Given the description of an element on the screen output the (x, y) to click on. 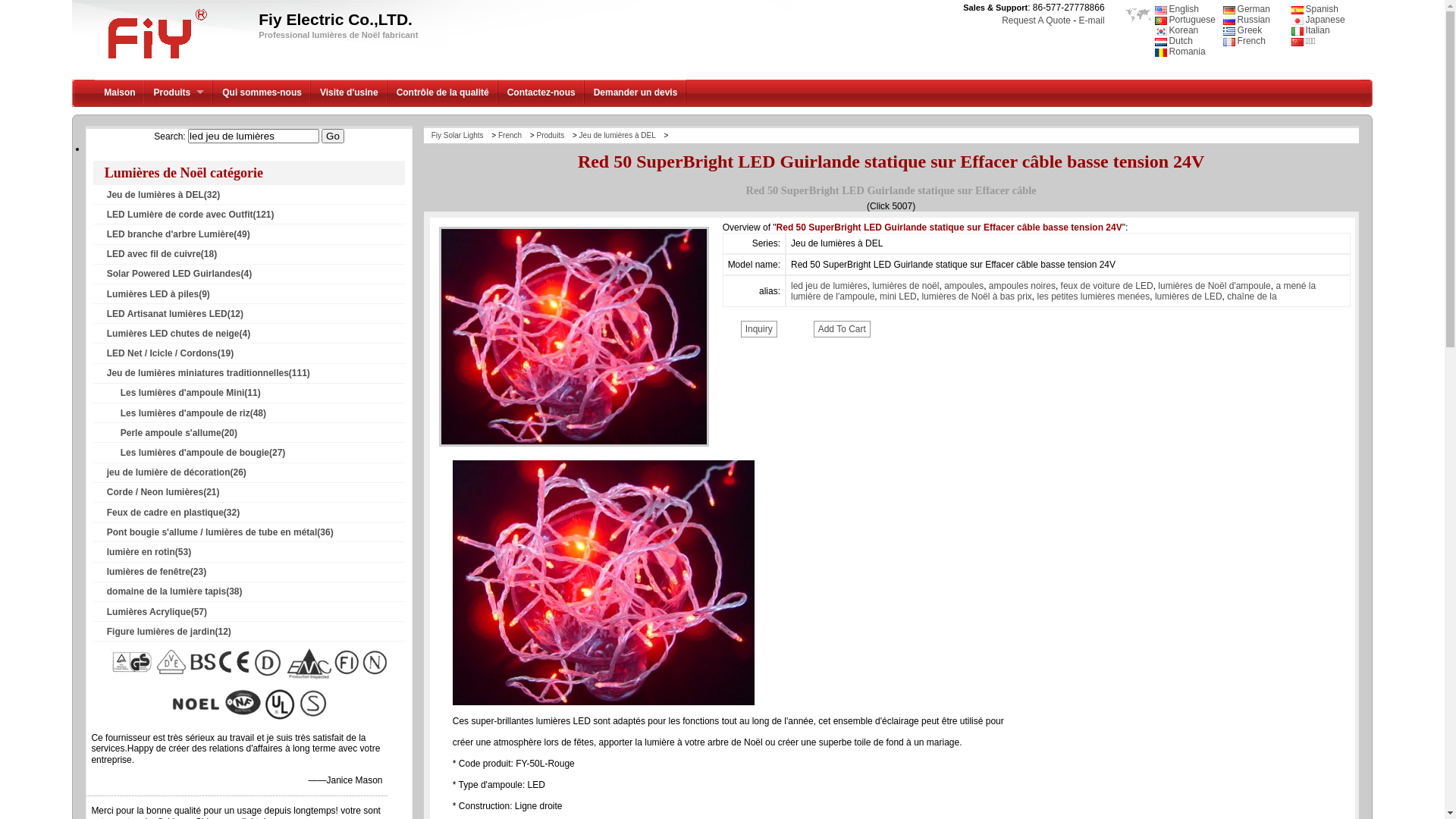
Visite d'usine Element type: text (348, 91)
Produits Element type: text (553, 135)
 Go  Element type: text (332, 135)
Fiy Solar Lights Element type: text (461, 135)
Inquiry Element type: text (758, 328)
Greek Element type: text (1242, 30)
Feux de cadre en plastique(32) Element type: text (255, 512)
Japanese Element type: text (1318, 19)
E-mail Element type: text (1091, 20)
Russian Element type: text (1246, 19)
German Element type: text (1246, 8)
Add To Cart Element type: text (842, 328)
Produits Element type: text (178, 91)
ampoules noires Element type: text (1021, 285)
Fiy Electric Co.,LTD. Element type: hover (154, 61)
Italian Element type: text (1310, 30)
Perle ampoule s'allume(20) Element type: text (255, 432)
Qui sommes-nous Element type: text (261, 91)
Solar Powered LED Guirlandes(4) Element type: text (255, 273)
Korean Element type: text (1176, 30)
Demander un devis Element type: text (635, 91)
LED Net / Icicle / Cordons(19) Element type: text (255, 353)
mini LED Element type: text (897, 296)
Spanish Element type: text (1314, 8)
LED avec fil de cuivre(18) Element type: text (255, 253)
feux de voiture de LED Element type: text (1106, 285)
French Element type: text (512, 135)
Contactez-nous Element type: text (541, 91)
Maison Element type: text (119, 91)
Portuguese Element type: text (1184, 19)
English Element type: text (1176, 8)
ampoules Element type: text (963, 285)
Request A Quote Element type: text (1035, 20)
French Element type: text (1244, 40)
Romania Element type: text (1179, 51)
Dutch Element type: text (1173, 40)
